Given the description of an element on the screen output the (x, y) to click on. 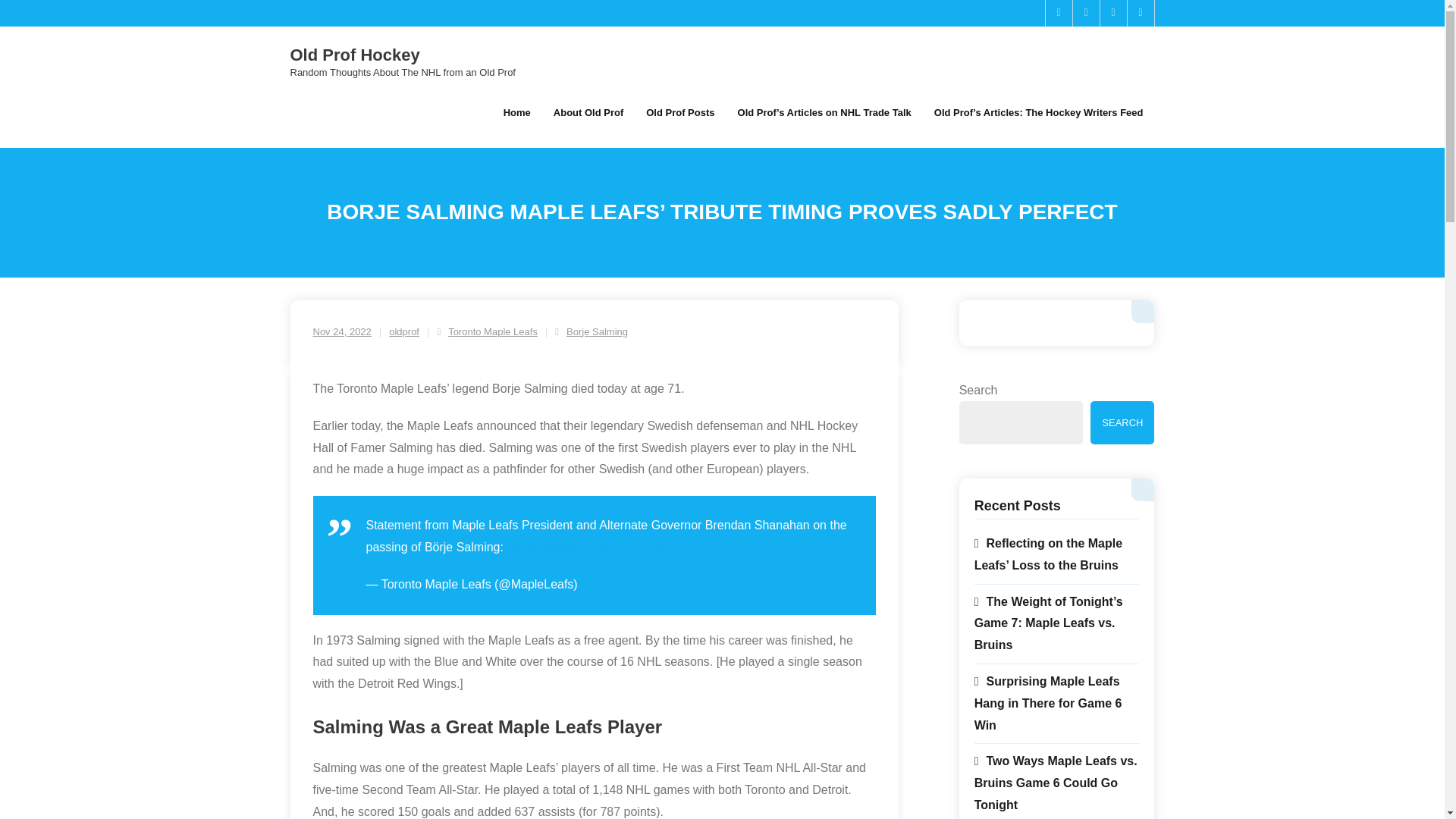
Random Thoughts About The NHL from an Old Prof (402, 71)
November 24, 2022 (633, 584)
Surprising Maple Leafs Hang in There for Game 6 Win (1057, 703)
About Old Prof (587, 112)
oldprof (403, 331)
Toronto Maple Leafs (492, 331)
View all posts by oldprof (403, 331)
Two Ways Maple Leafs vs. Bruins Game 6 Could Go Tonight (1057, 783)
Nov 24, 2022 (342, 331)
